Given the description of an element on the screen output the (x, y) to click on. 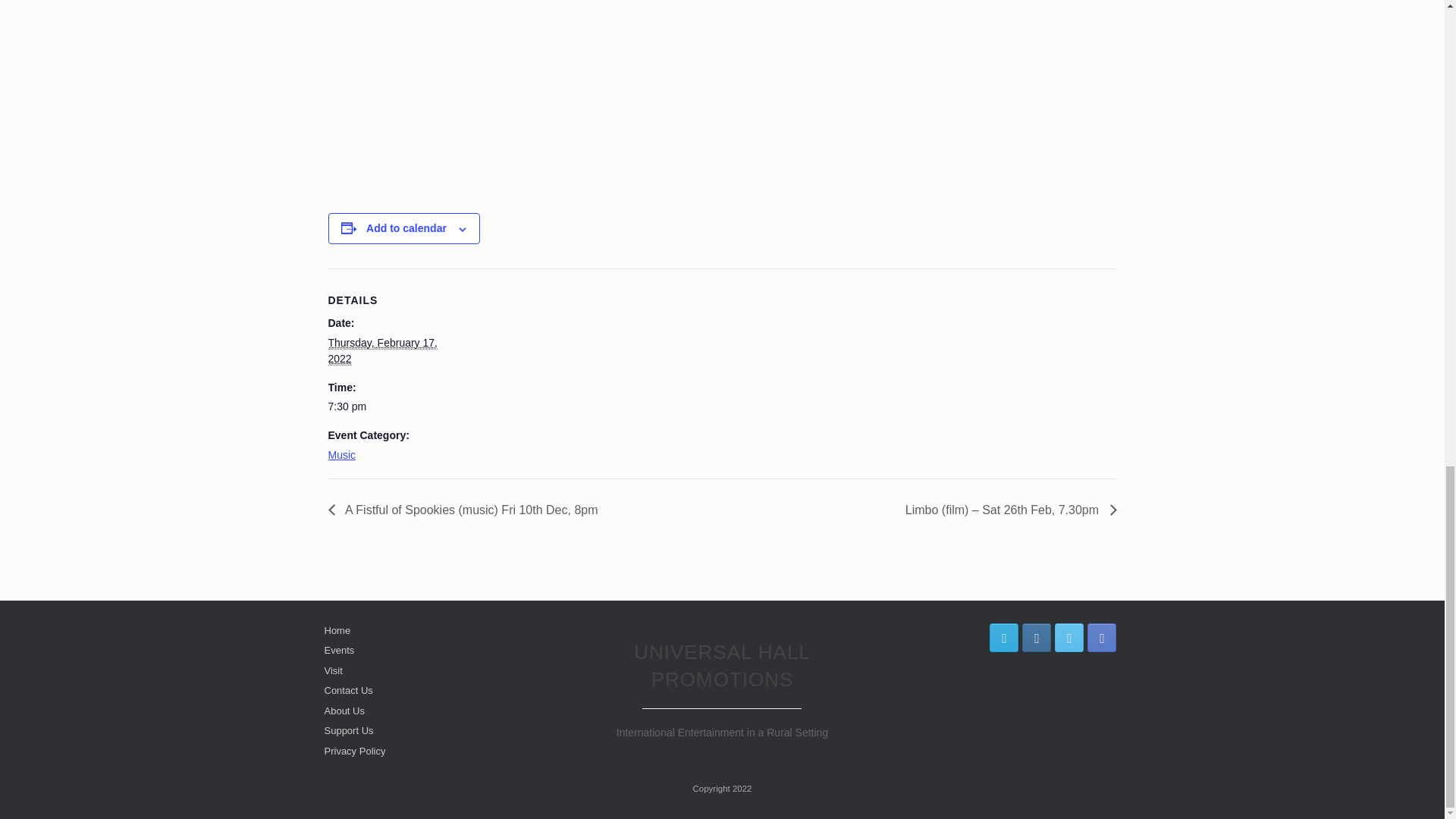
Add to calendar (406, 227)
Visit (333, 670)
About Us (344, 710)
Universal Hall Promotions Instagram (1036, 637)
Events (339, 650)
2022-02-17 (390, 406)
Privacy Policy (354, 750)
Contact Us (348, 690)
2022-02-17 (381, 350)
Universal Hall Promotions E-mail (1003, 637)
